Given the description of an element on the screen output the (x, y) to click on. 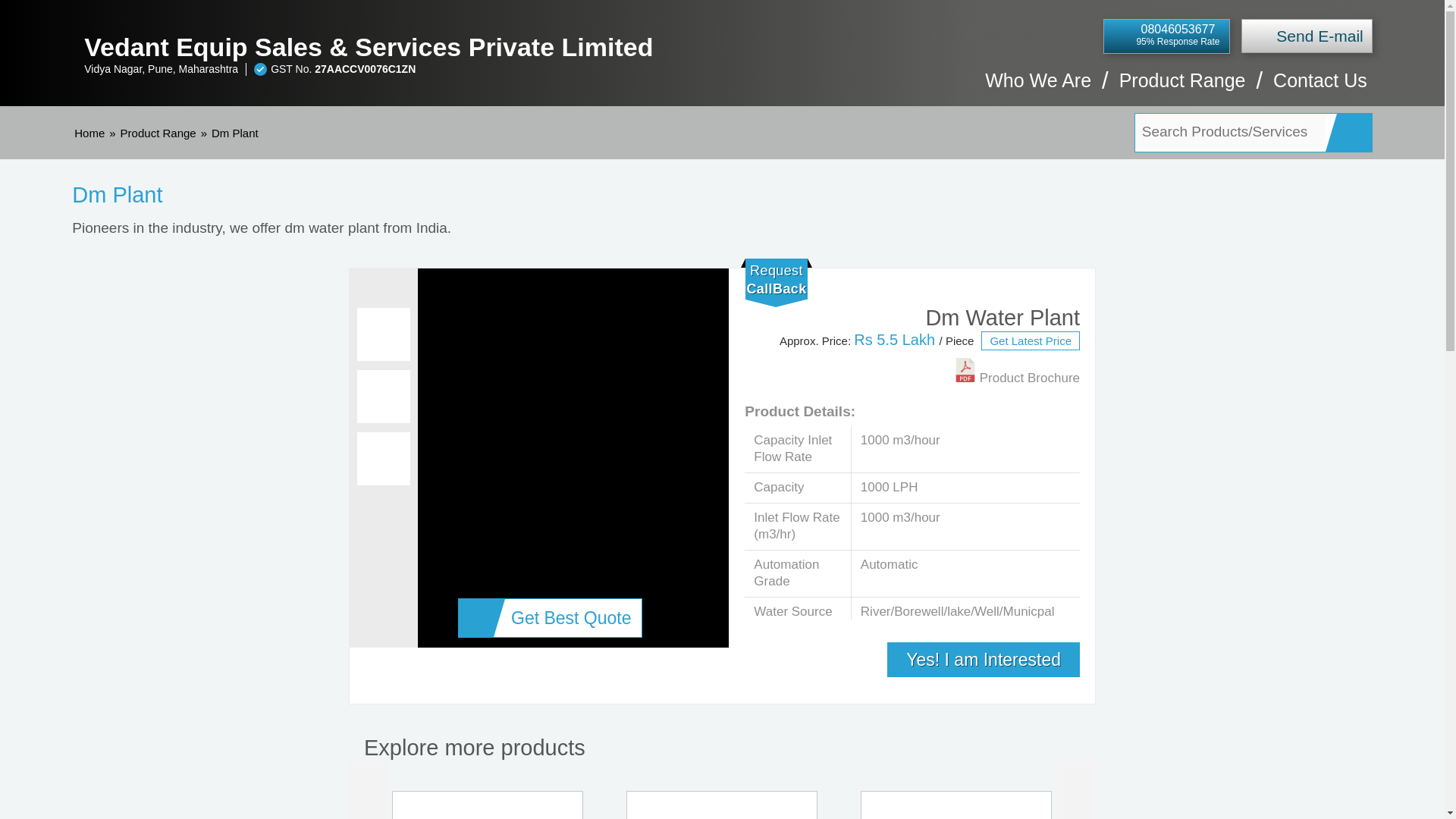
Product Range (1182, 88)
Contact Us (1319, 88)
Home (89, 132)
Product Range (158, 132)
Who We Are (1037, 88)
